Given the description of an element on the screen output the (x, y) to click on. 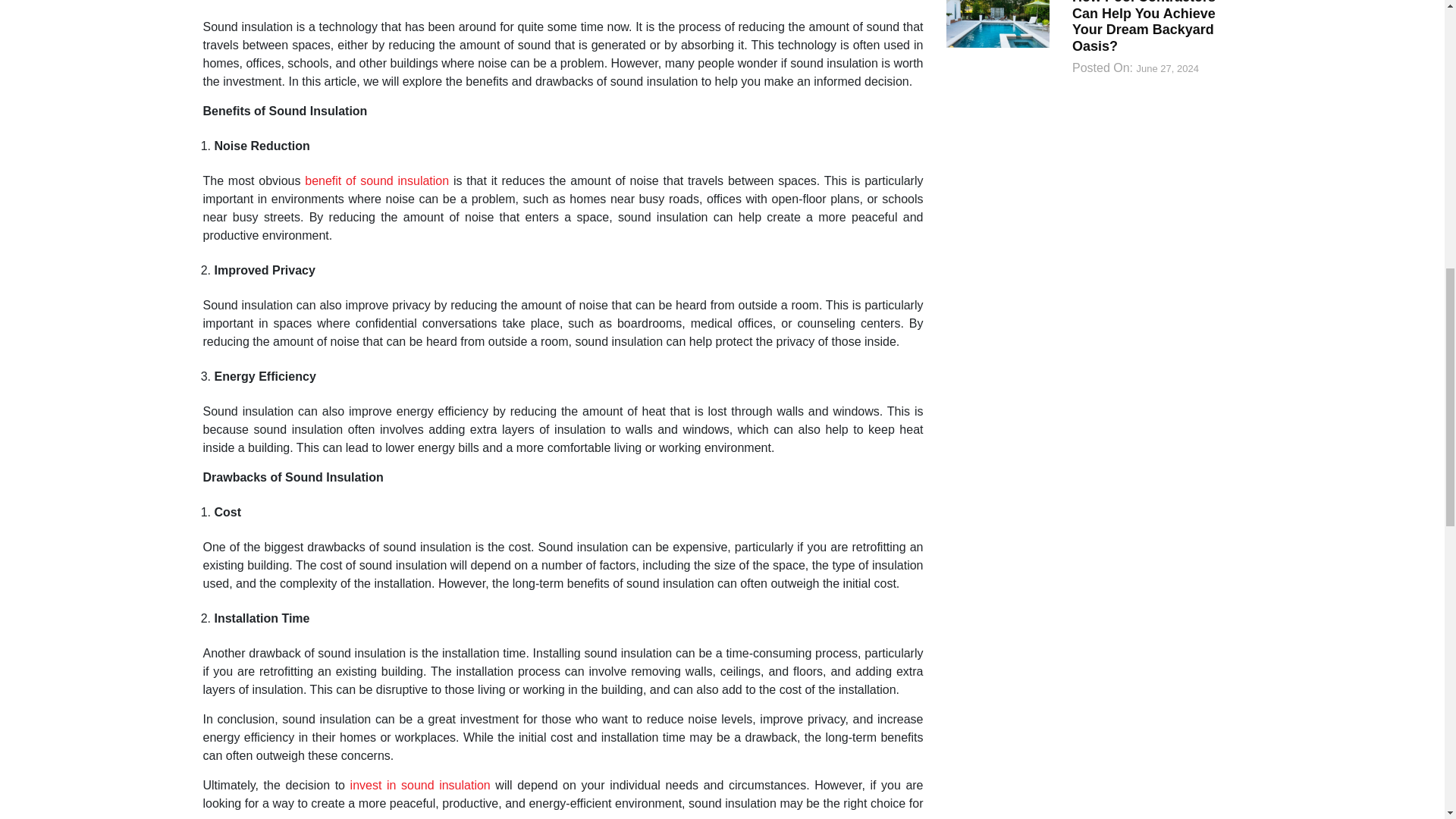
invest in sound insulation (420, 784)
benefit of sound insulation (376, 180)
